Given the description of an element on the screen output the (x, y) to click on. 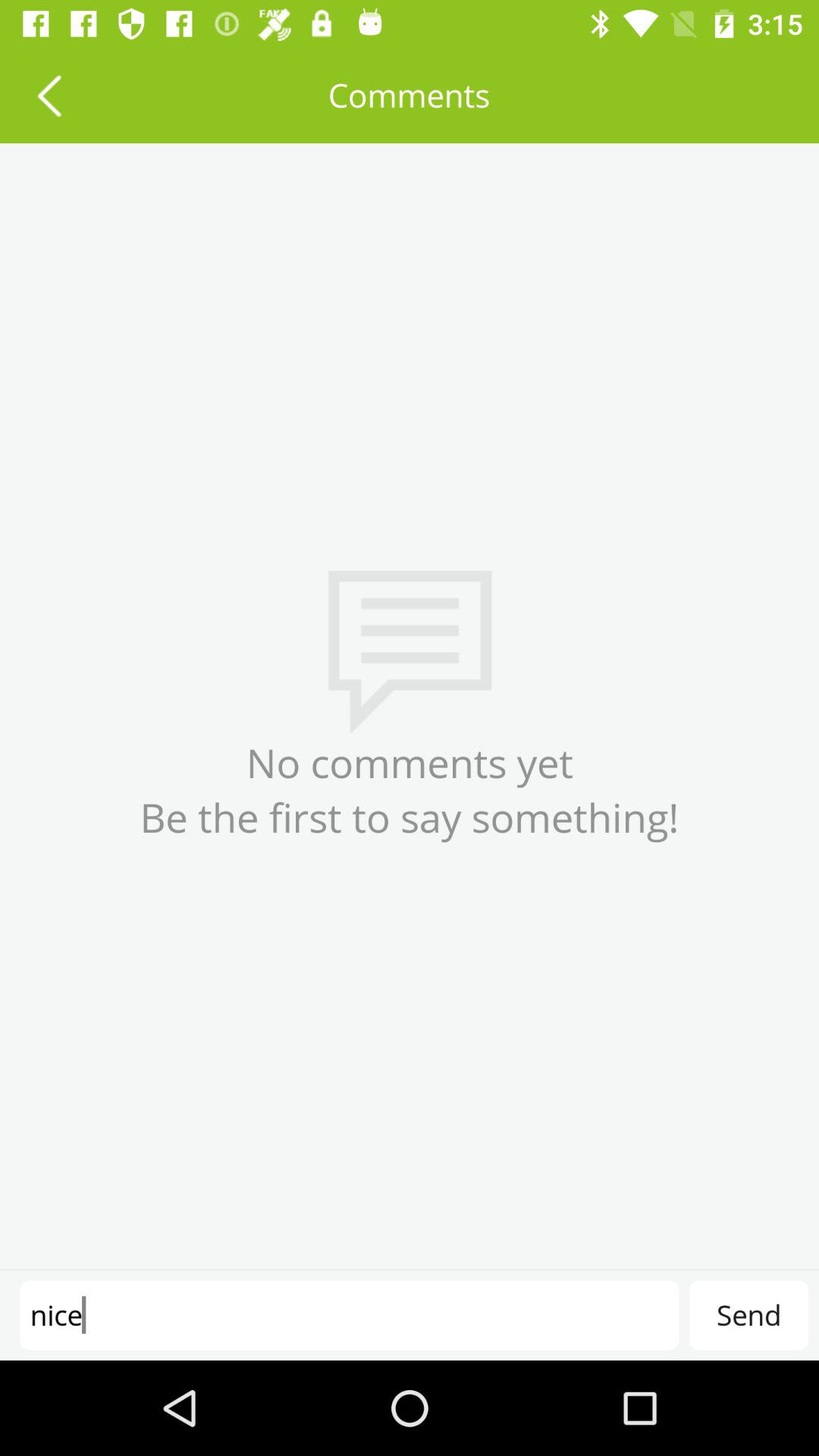
go back to previous page (48, 95)
